Given the description of an element on the screen output the (x, y) to click on. 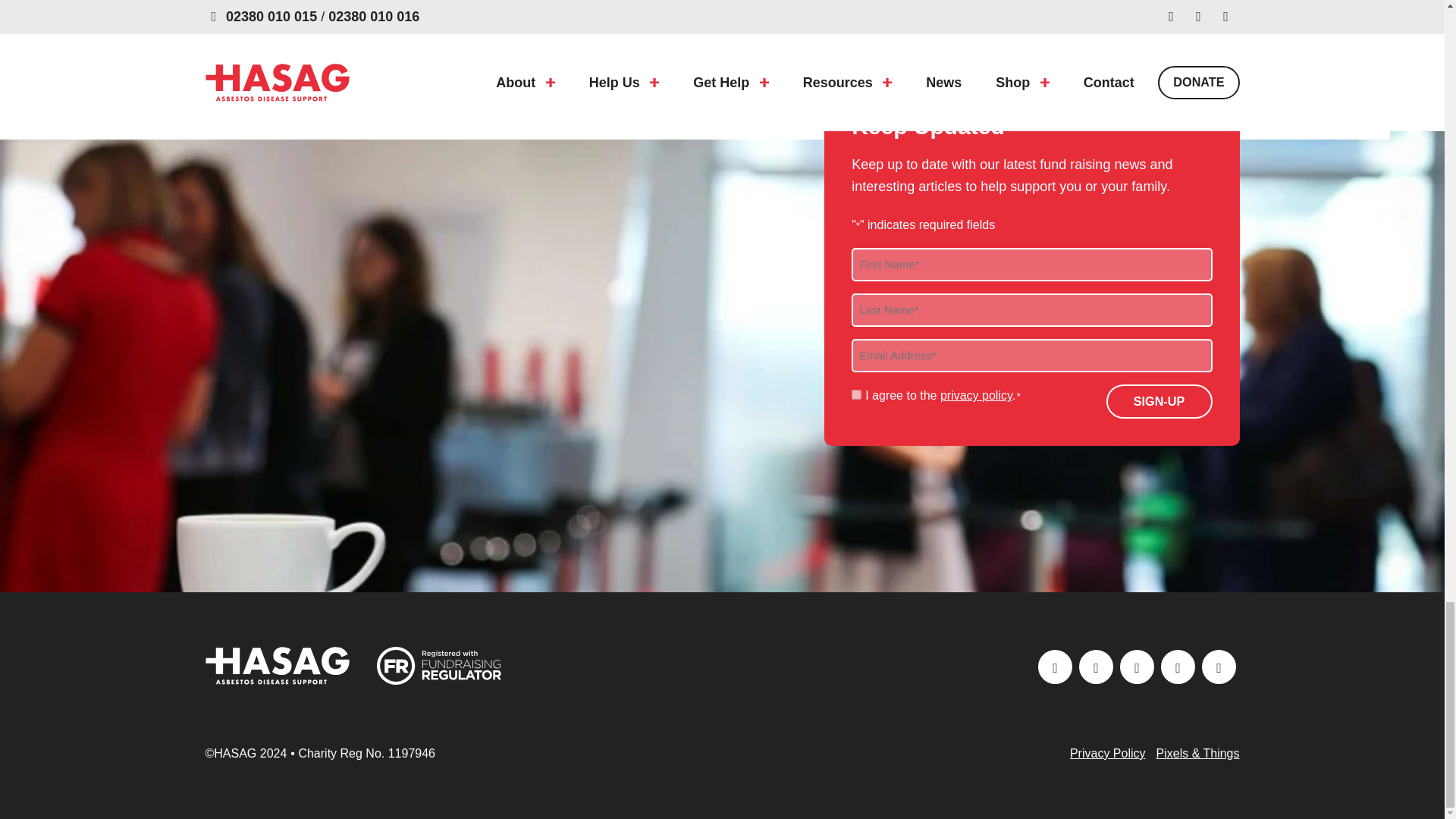
HASAG (277, 665)
1 (856, 394)
Sign-Up (1158, 400)
